Given the description of an element on the screen output the (x, y) to click on. 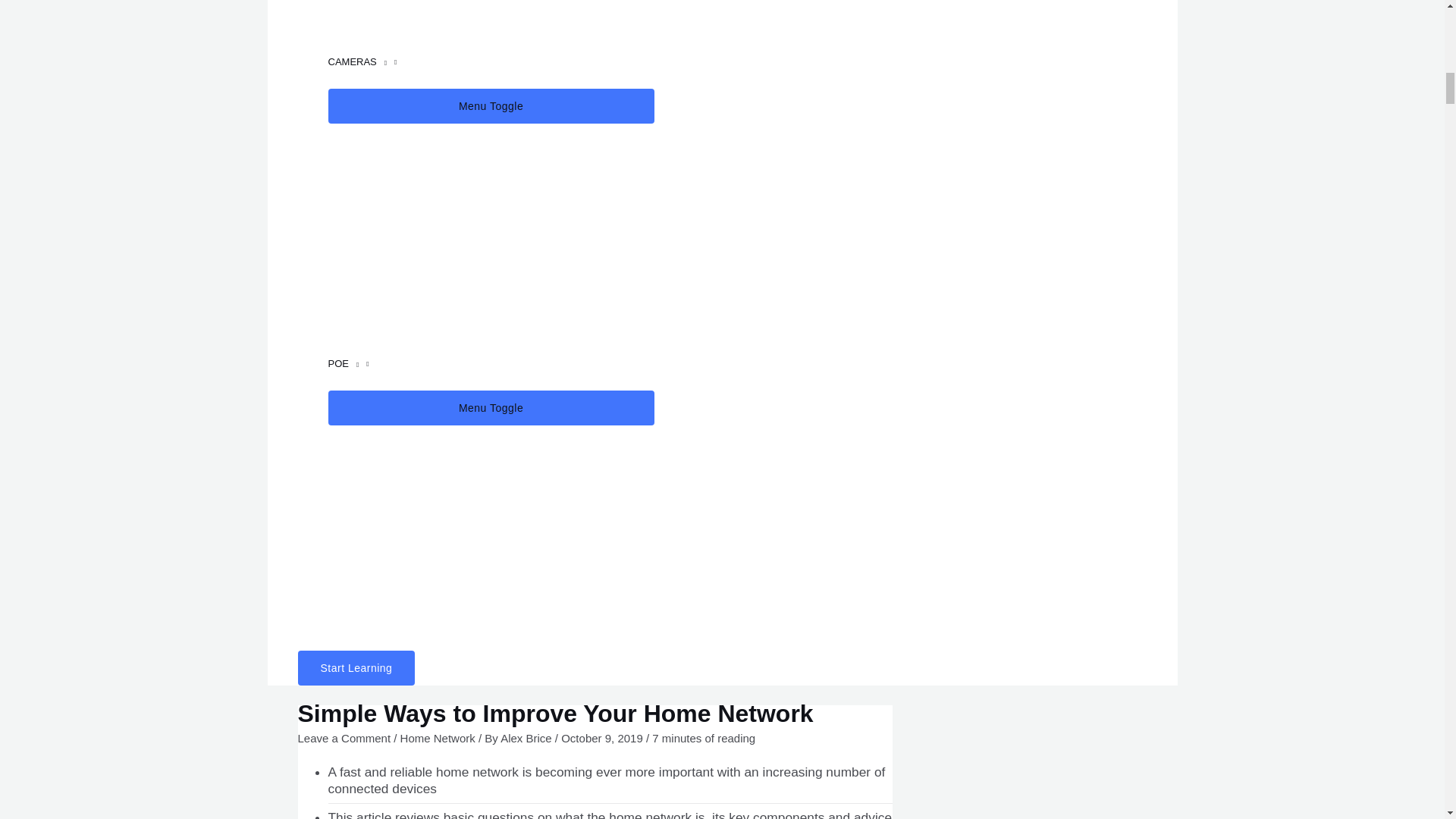
CAMERAS (490, 62)
View all posts by Alex Brice (527, 738)
Menu Toggle (490, 105)
